Given the description of an element on the screen output the (x, y) to click on. 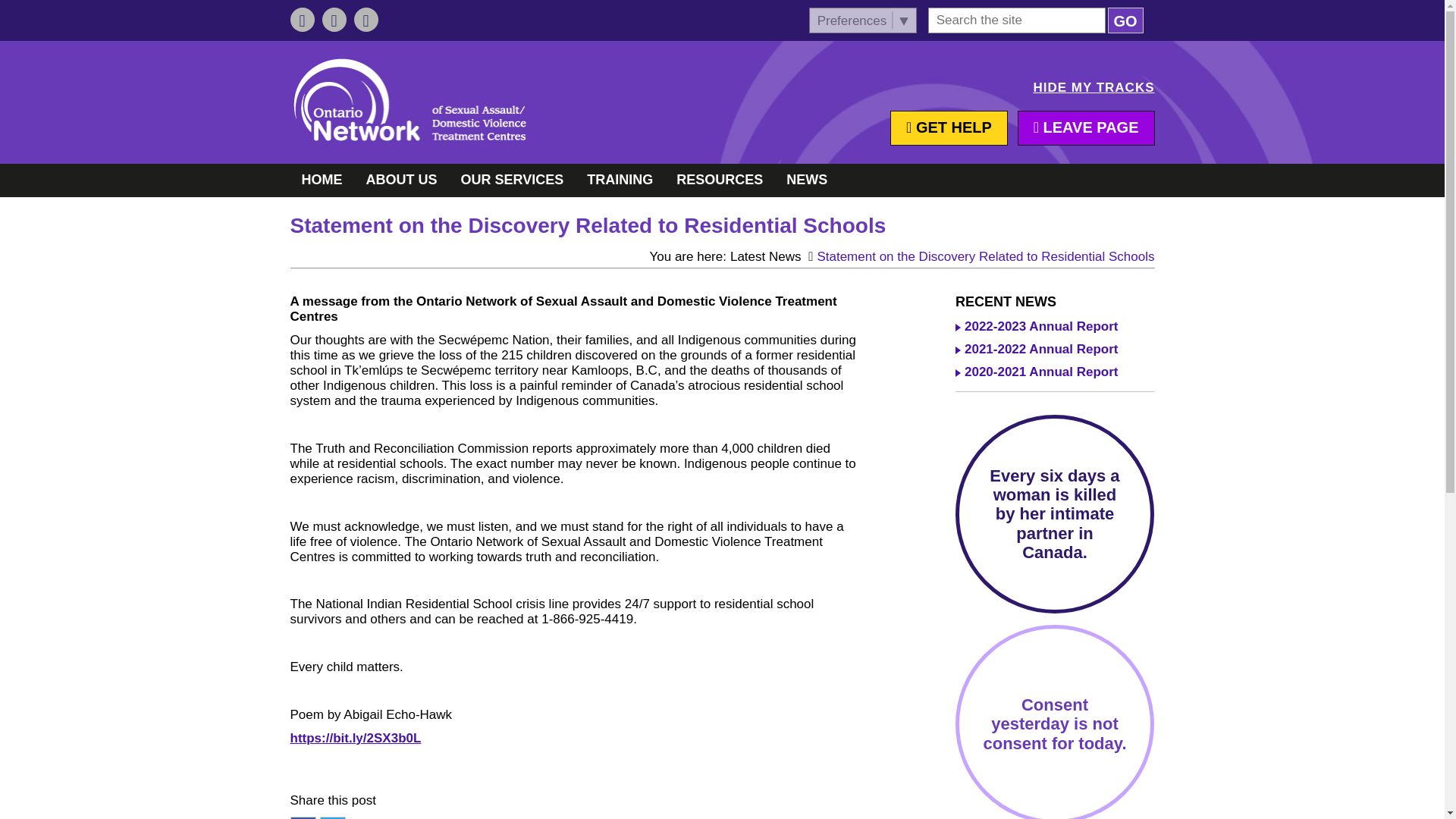
Follow us on facebook (301, 19)
LEAVE PAGE (1085, 127)
Home (321, 180)
Enter search text (1016, 20)
Follow us on twitter (333, 19)
GO (1125, 20)
About Us (401, 180)
GO (1125, 20)
Home (408, 98)
NEWS (806, 180)
GET HELP (948, 127)
HIDE MY TRACKS (1093, 87)
Follow us on youtube (365, 19)
HIDE MY TRACKS (1093, 87)
Go (1125, 20)
